Given the description of an element on the screen output the (x, y) to click on. 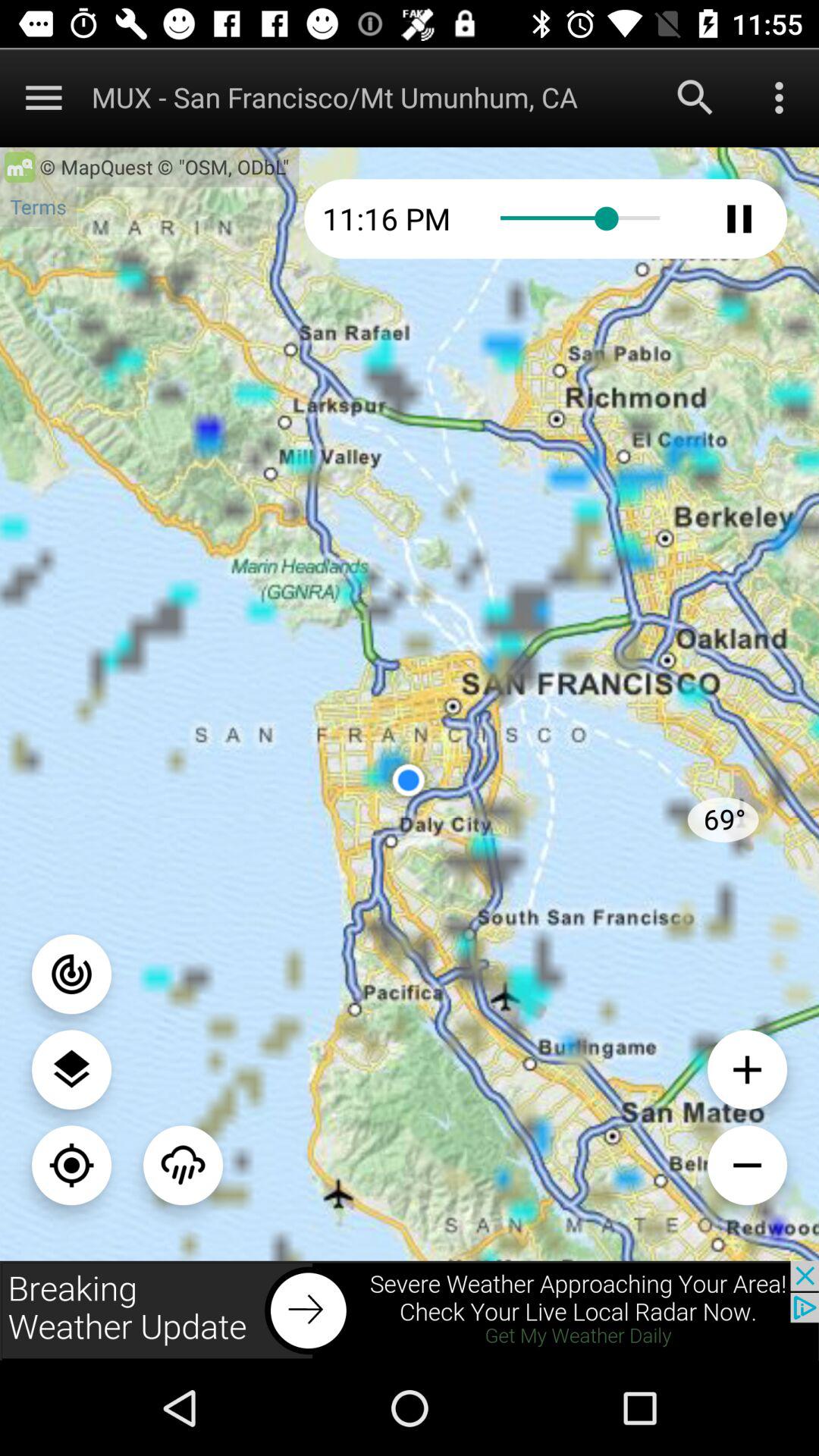
menu page (71, 1069)
